Given the description of an element on the screen output the (x, y) to click on. 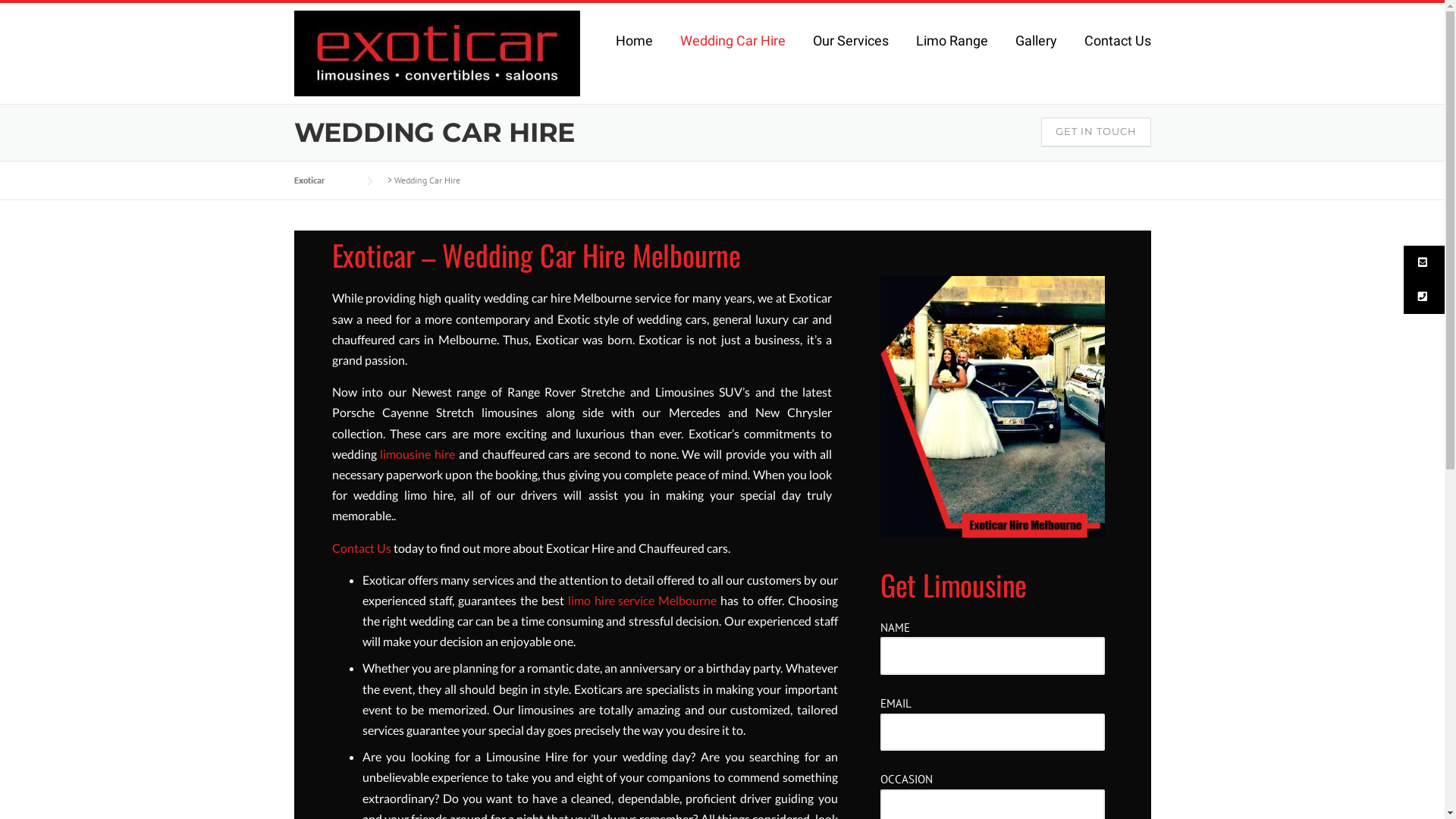
Exoticar Element type: hover (437, 52)
limo hire service Melbourne Element type: text (642, 600)
limousine hire Element type: text (417, 453)
GET IN TOUCH Element type: text (1095, 132)
Gallery Element type: text (1035, 52)
Our Services Element type: text (850, 52)
Exoticar Element type: text (324, 179)
Wedding Car Hire Element type: text (731, 52)
Home Element type: text (634, 52)
Contact Us Element type: text (1110, 52)
Limo Range Element type: text (951, 52)
Skip to content Element type: text (35, 9)
Contact Us Element type: text (361, 547)
